Given the description of an element on the screen output the (x, y) to click on. 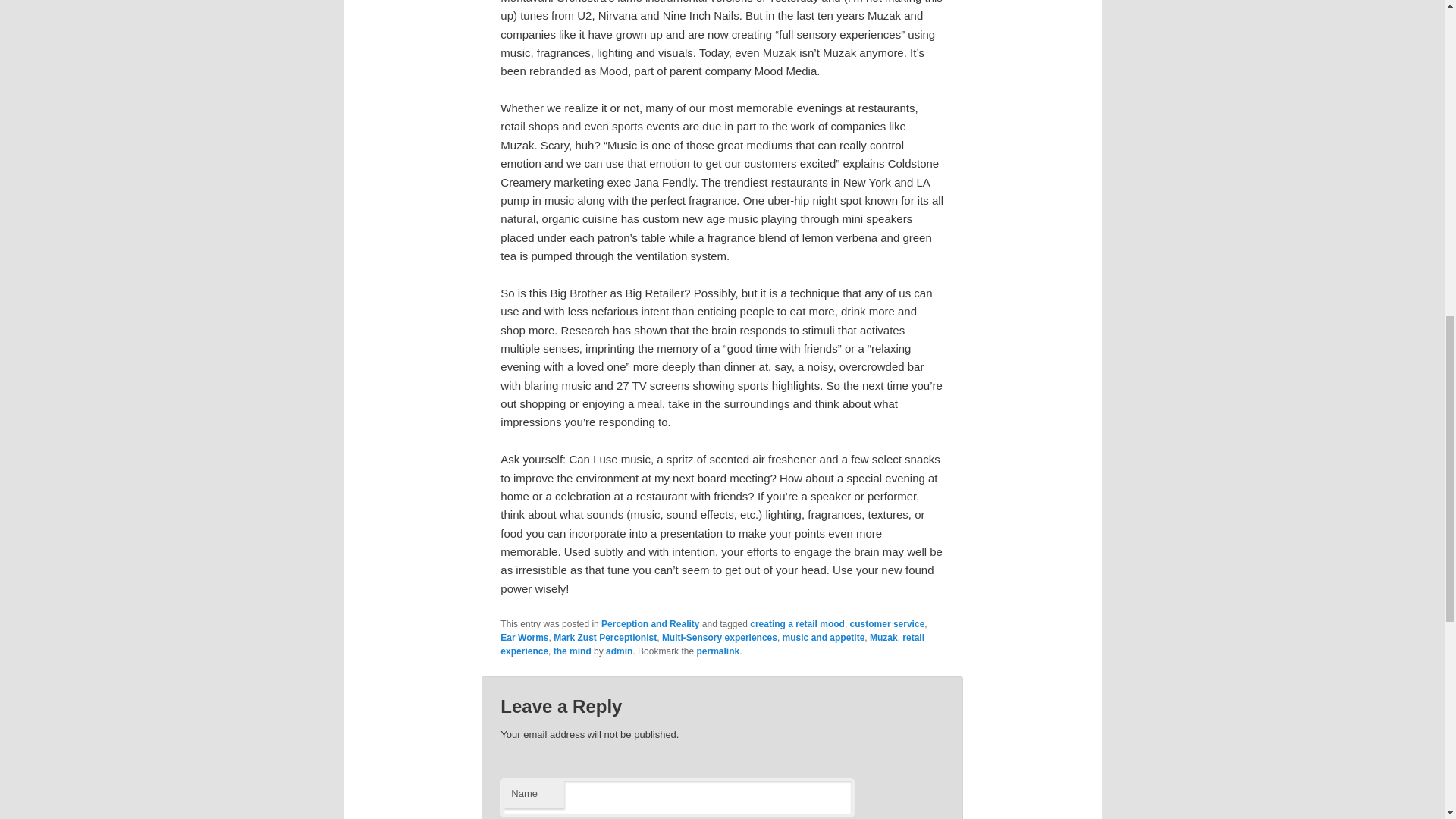
creating a retail mood (796, 624)
Muzak (883, 637)
the mind (572, 651)
Perception and Reality (649, 624)
Permalink to Mind Muzak (717, 651)
retail experience (712, 644)
customer service (887, 624)
Ear Worms (524, 637)
music and appetite (823, 637)
admin (618, 651)
permalink (717, 651)
Mark Zust Perceptionist (604, 637)
Multi-Sensory experiences (719, 637)
